Given the description of an element on the screen output the (x, y) to click on. 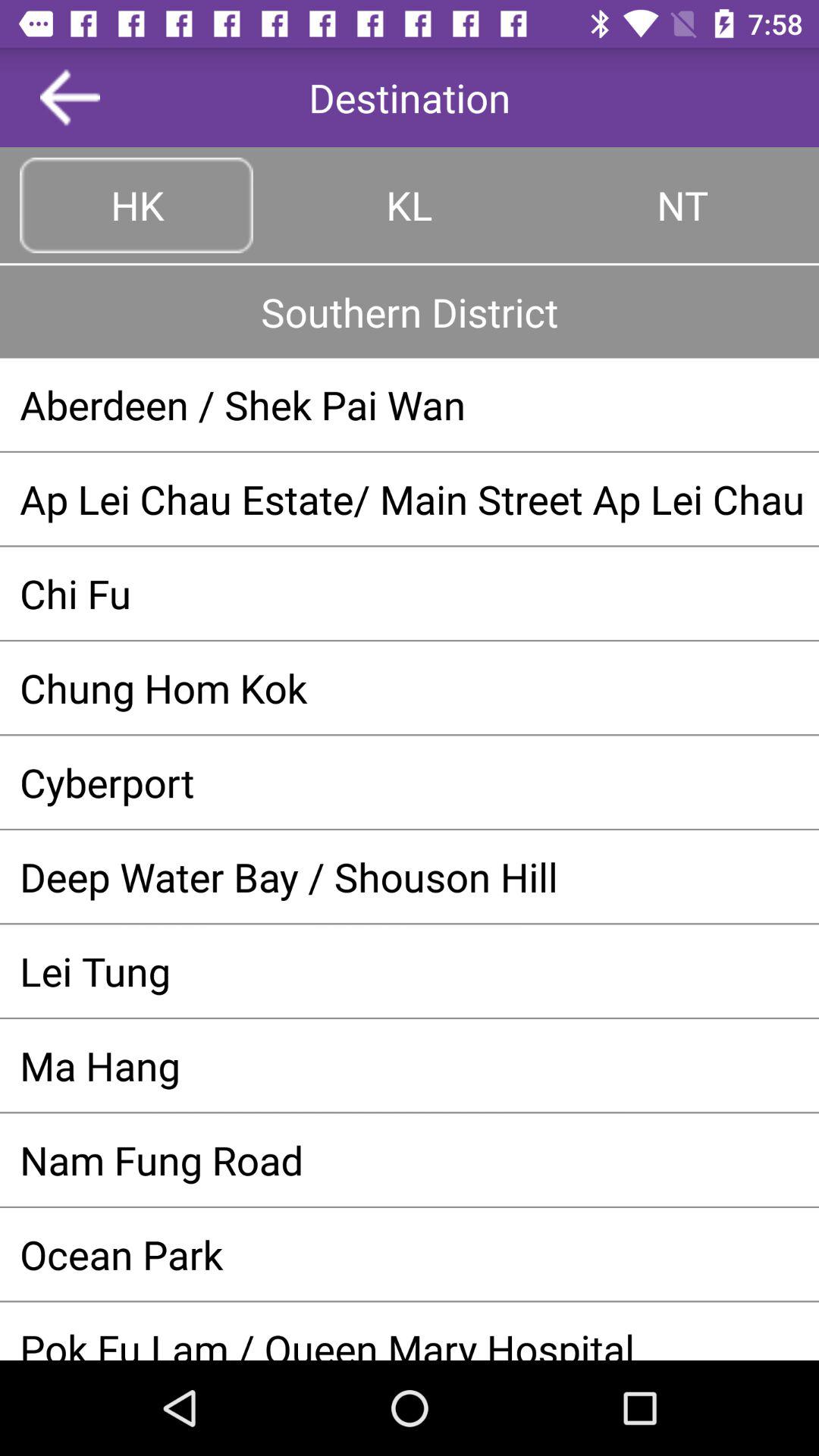
select icon below ocean park app (409, 1341)
